Given the description of an element on the screen output the (x, y) to click on. 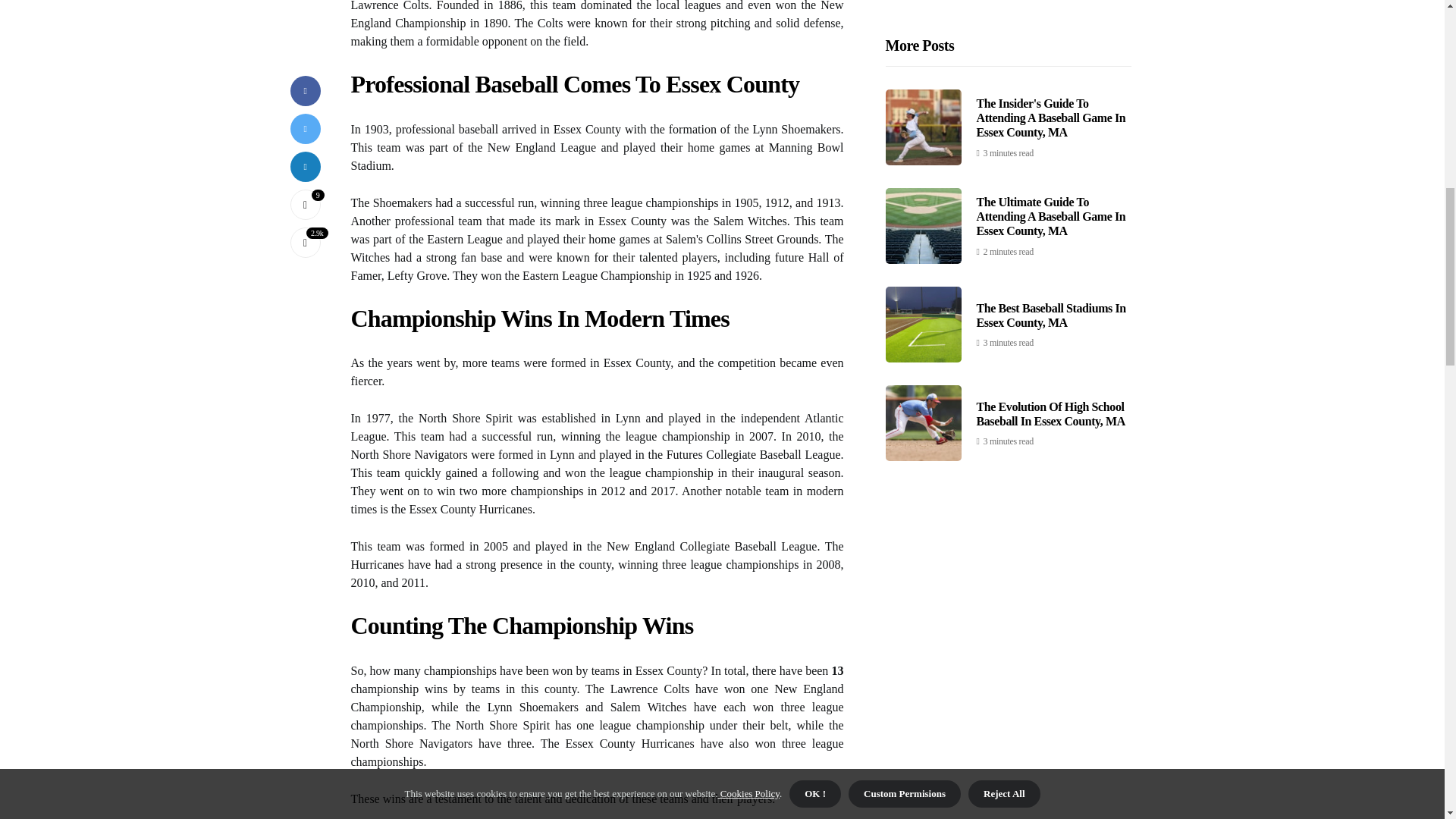
The Best Baseball Stadiums In Essex County, MA (1050, 22)
The Evolution Of High School Baseball In Essex County, MA (1050, 121)
